Given the description of an element on the screen output the (x, y) to click on. 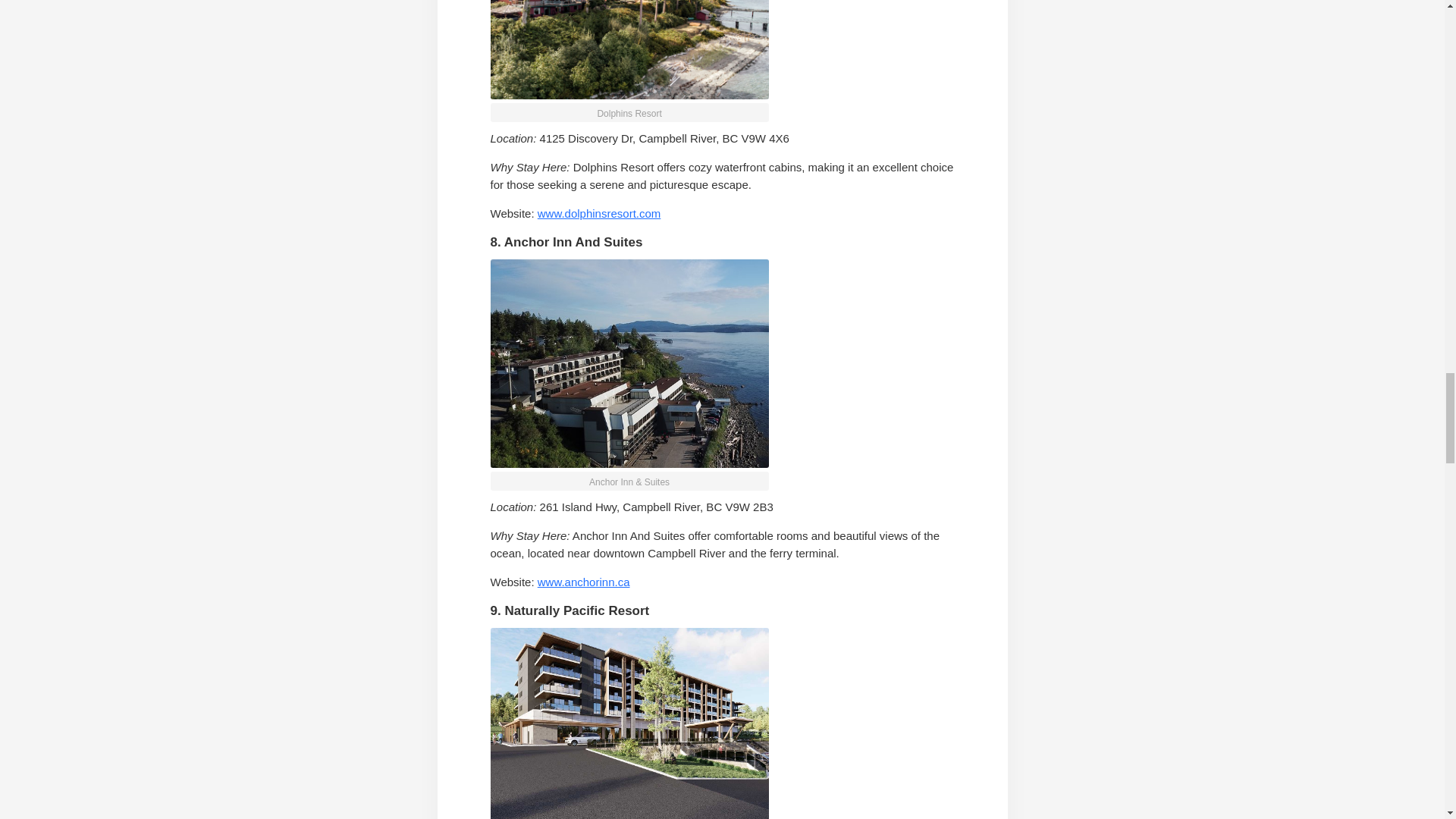
www.anchorinn.ca (583, 581)
www.dolphinsresort.com (599, 213)
